Given the description of an element on the screen output the (x, y) to click on. 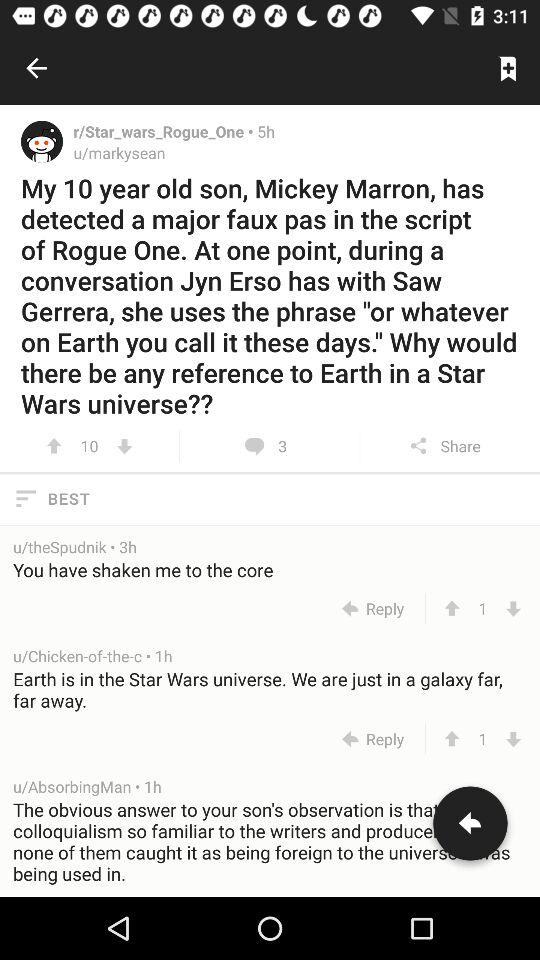
flip to the best icon (270, 498)
